Given the description of an element on the screen output the (x, y) to click on. 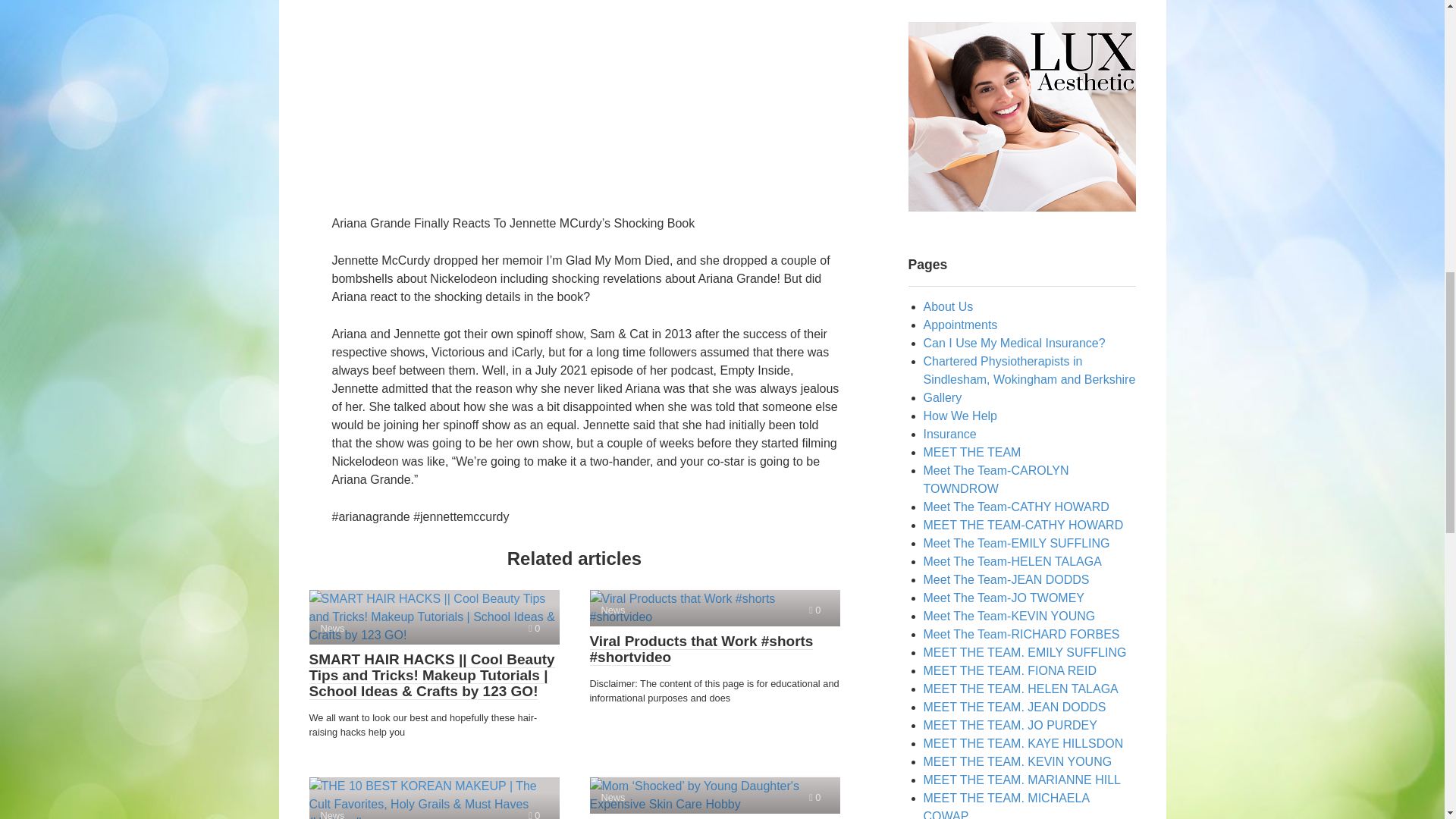
Comments (534, 814)
Comments (815, 609)
Comments (534, 627)
MEDSPA in Miami (1021, 116)
Comments (815, 797)
